Given the description of an element on the screen output the (x, y) to click on. 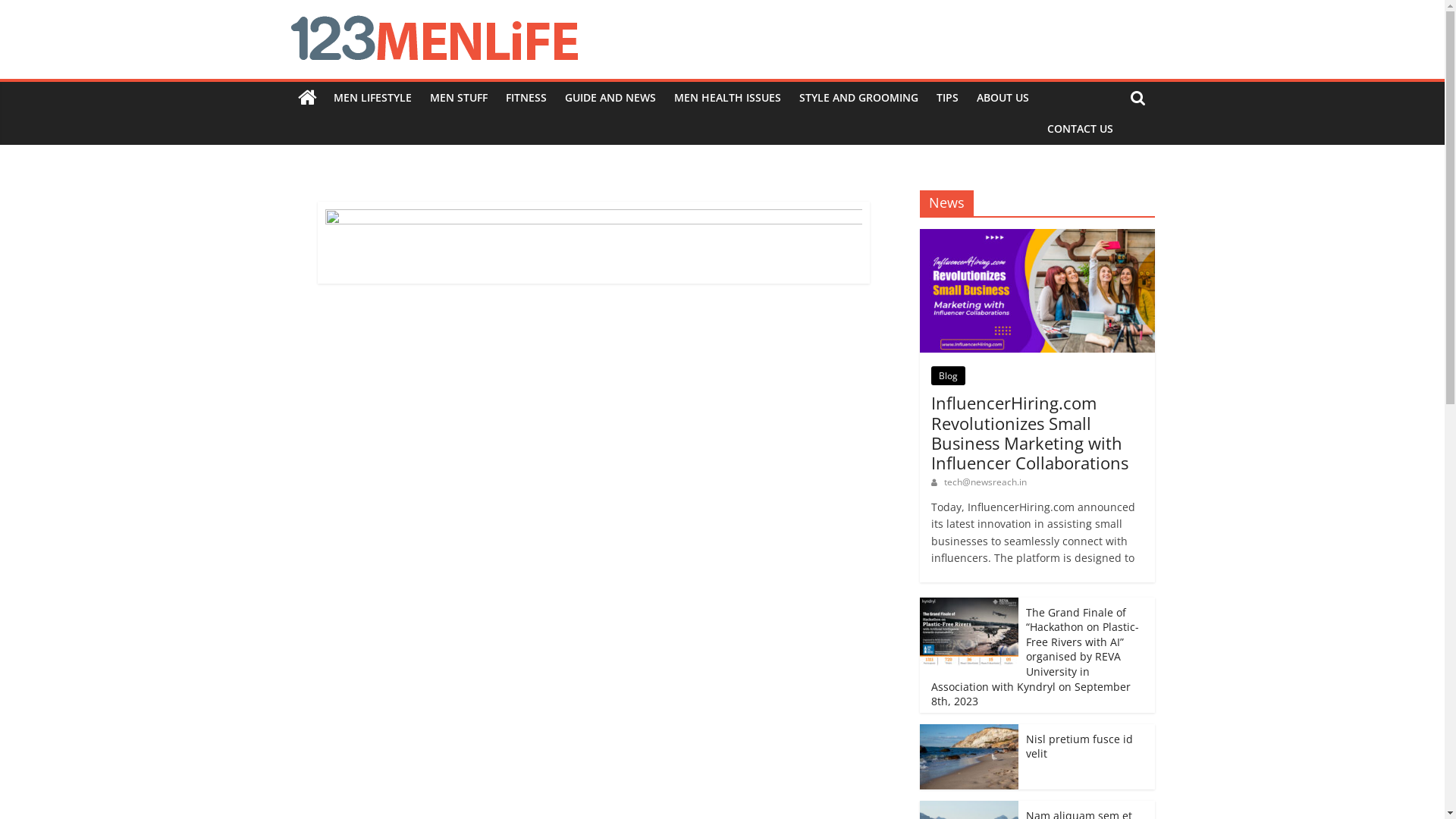
tech@newsreach.in Element type: text (984, 481)
Nisl pretium fusce id velit Element type: hover (968, 731)
MEN STUFF Element type: text (457, 97)
MEN LIFESTYLE Element type: text (372, 97)
123menlife.com Element type: hover (306, 97)
TIPS Element type: text (946, 97)
Nam aliquam sem et tortor Element type: hover (968, 808)
Nisl pretium fusce id velit Element type: hover (968, 757)
ABOUT US Element type: text (1002, 97)
MEN HEALTH ISSUES Element type: text (726, 97)
Nisl pretium fusce id velit Element type: text (1078, 746)
FITNESS Element type: text (525, 97)
GUIDE AND NEWS Element type: text (609, 97)
STYLE AND GROOMING Element type: text (858, 97)
CONTACT US Element type: text (1079, 128)
123menlife.com Element type: text (305, 306)
Blog Element type: text (948, 375)
